Given the description of an element on the screen output the (x, y) to click on. 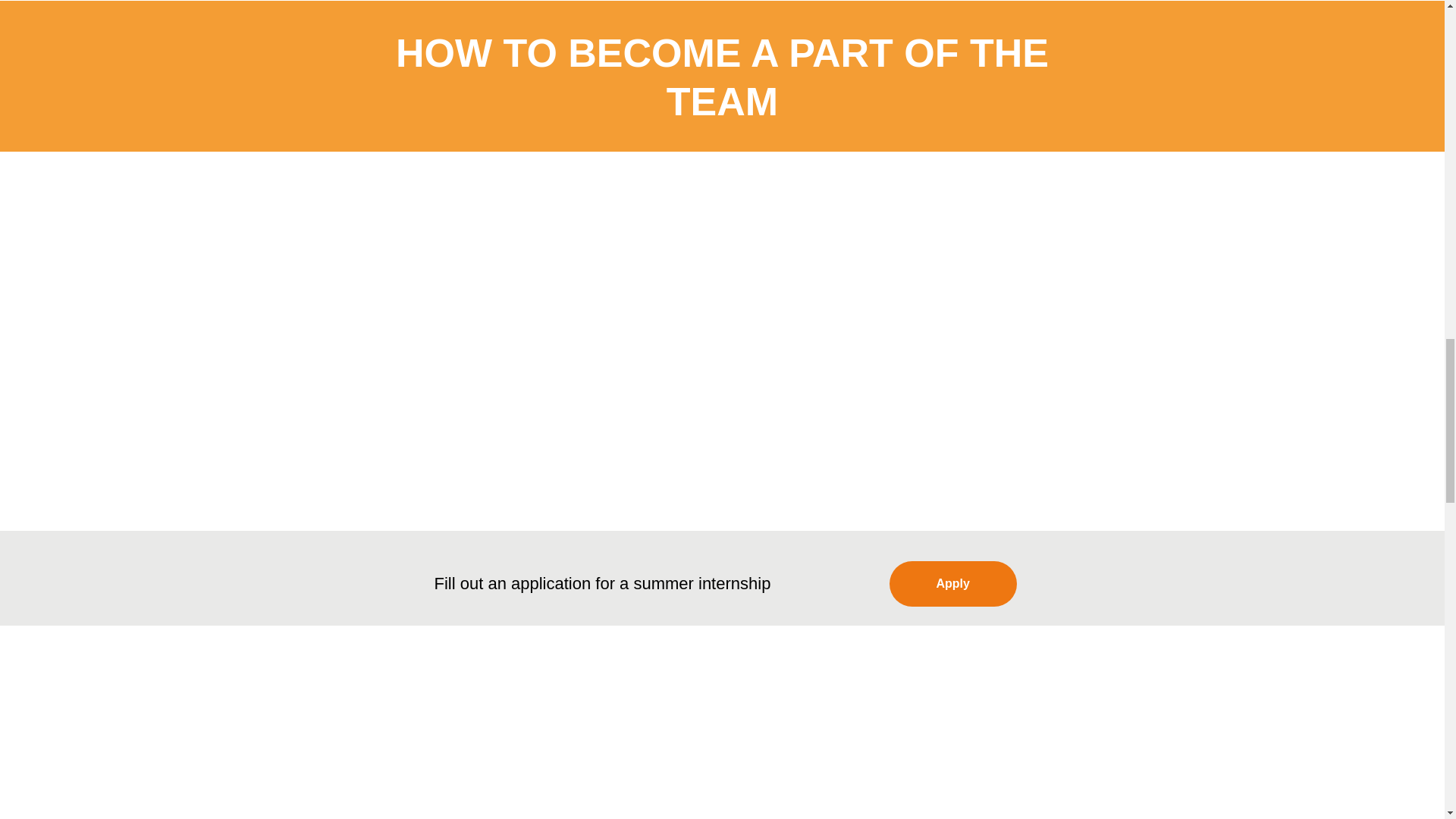
Apply (952, 583)
